Given the description of an element on the screen output the (x, y) to click on. 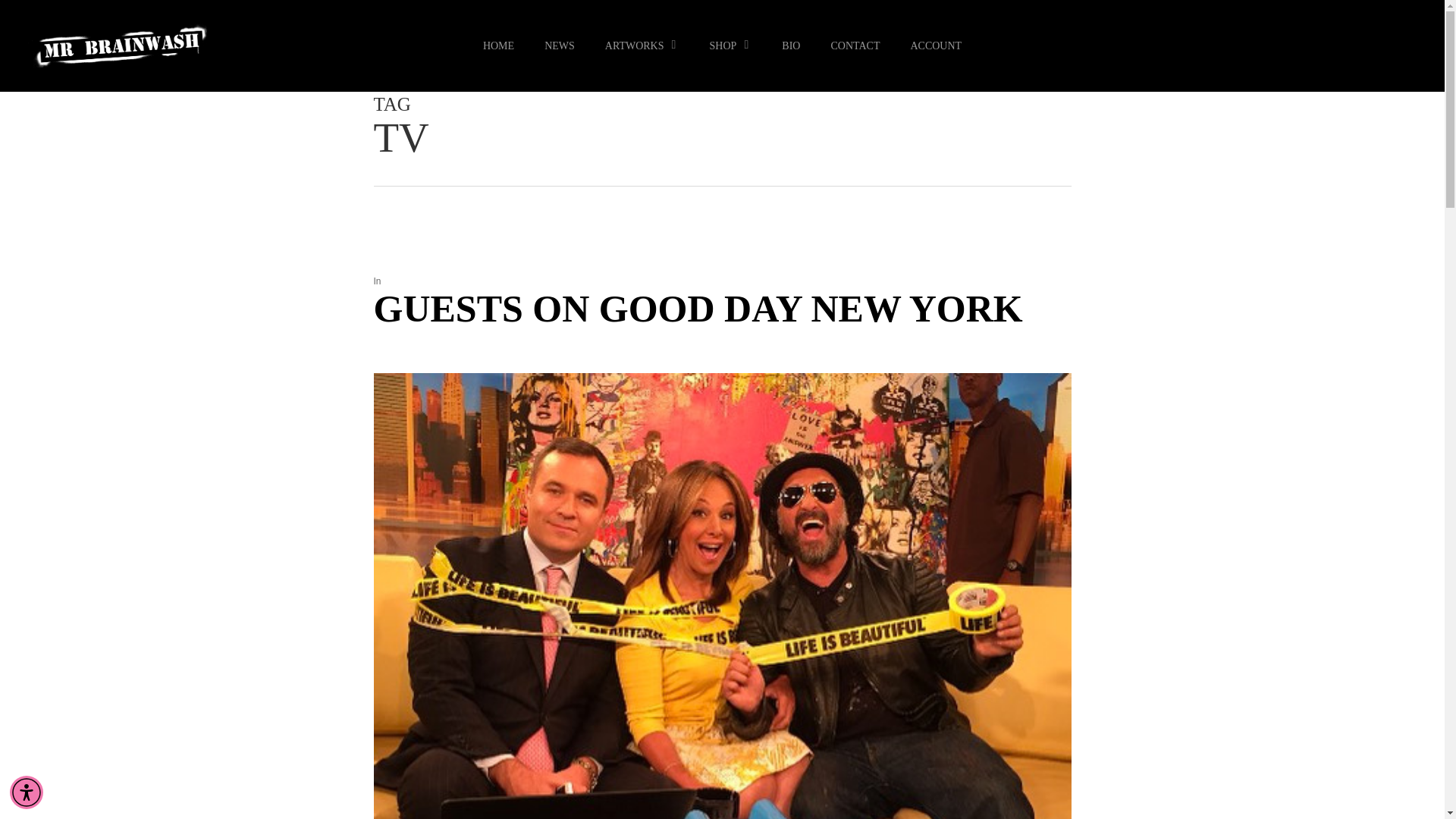
BIO (791, 45)
NEWS (559, 45)
Accessibility Menu (26, 792)
HOME (498, 45)
SHOP (730, 45)
ACCOUNT (935, 45)
ARTWORKS (641, 45)
CONTACT (855, 45)
GUESTS ON GOOD DAY NEW YORK (697, 308)
